Given the description of an element on the screen output the (x, y) to click on. 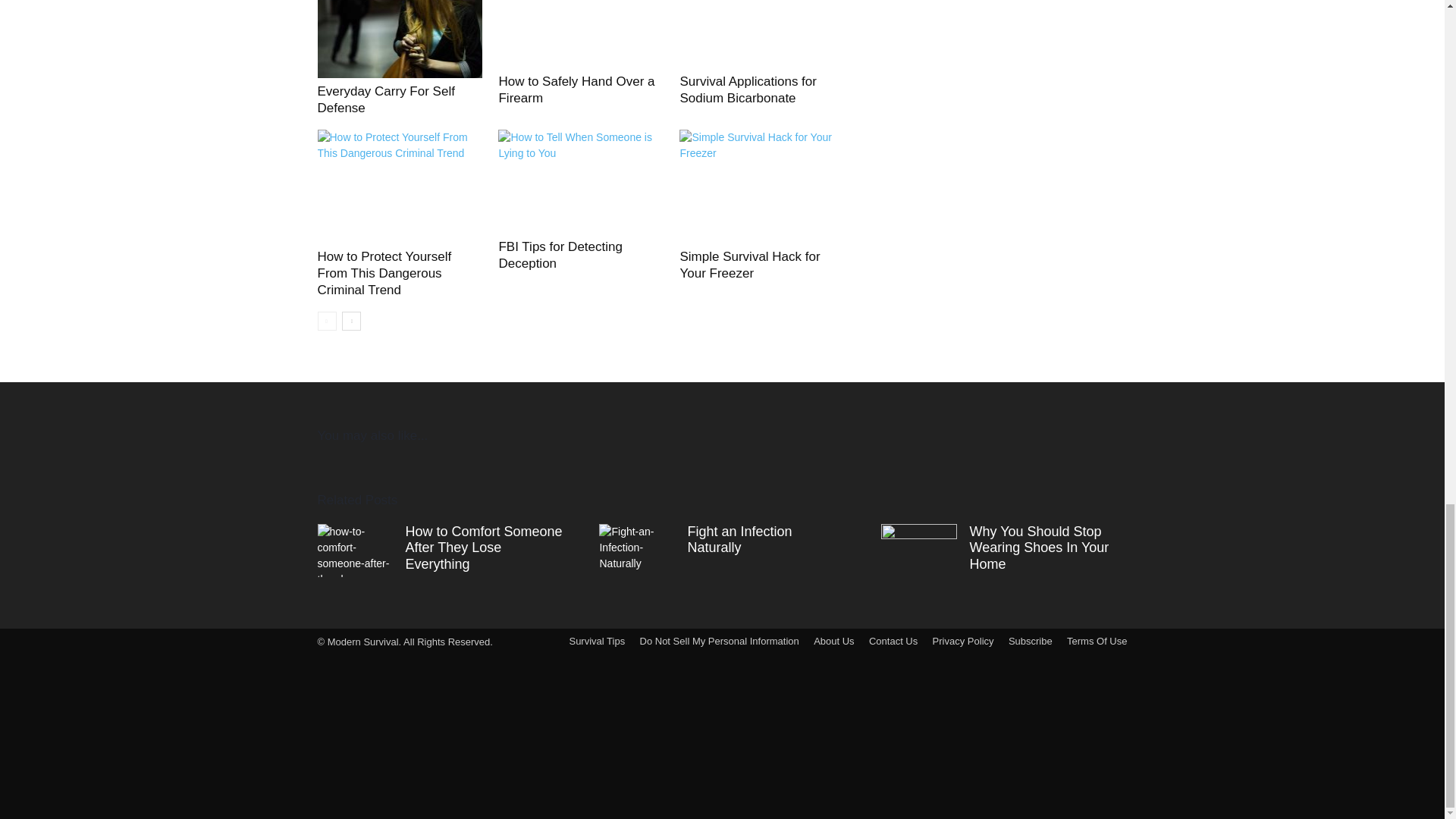
Simple Survival Hack for Your Freezer (749, 264)
How to Safely Hand Over a Firearm (575, 89)
Everyday Carry For Self Defense (385, 99)
How to Protect Yourself From This Dangerous Criminal Trend (384, 273)
Everyday Carry For Self Defense (399, 38)
Survival Applications for Sodium Bicarbonate (747, 89)
Everyday Carry For Self Defense (385, 99)
How to Safely Hand Over a Firearm (580, 33)
FBI Tips for Detecting Deception (559, 255)
